Given the description of an element on the screen output the (x, y) to click on. 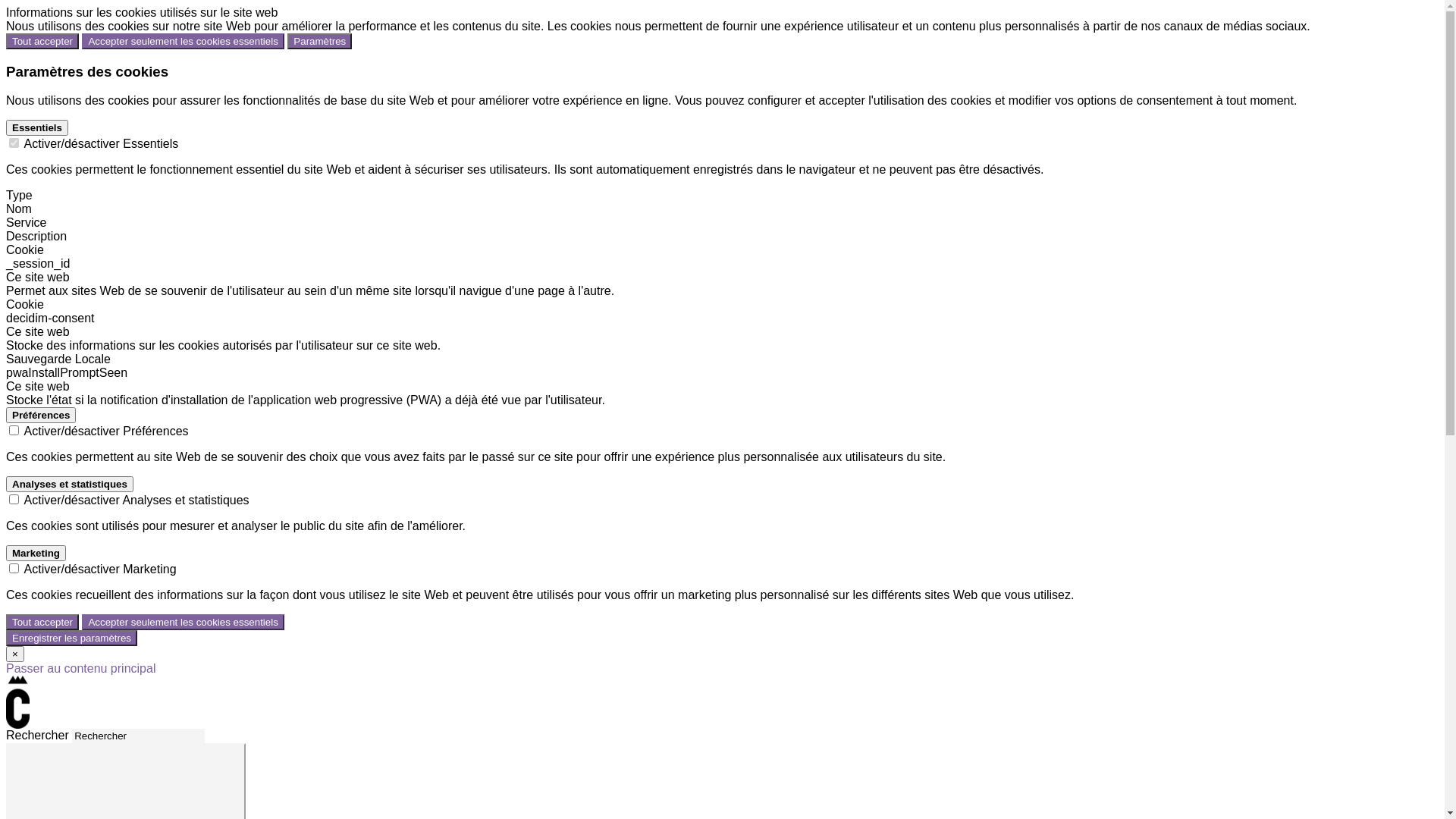
Marketing Element type: text (35, 553)
Accepter seulement les cookies essentiels Element type: text (182, 41)
Accepter seulement les cookies essentiels Element type: text (182, 622)
Essentiels Element type: text (37, 127)
Rechercher Element type: hover (138, 735)
Passer au contenu principal Element type: text (80, 668)
Tout accepter Element type: text (42, 622)
Analyses et statistiques Element type: text (69, 484)
Tout accepter Element type: text (42, 41)
